Given the description of an element on the screen output the (x, y) to click on. 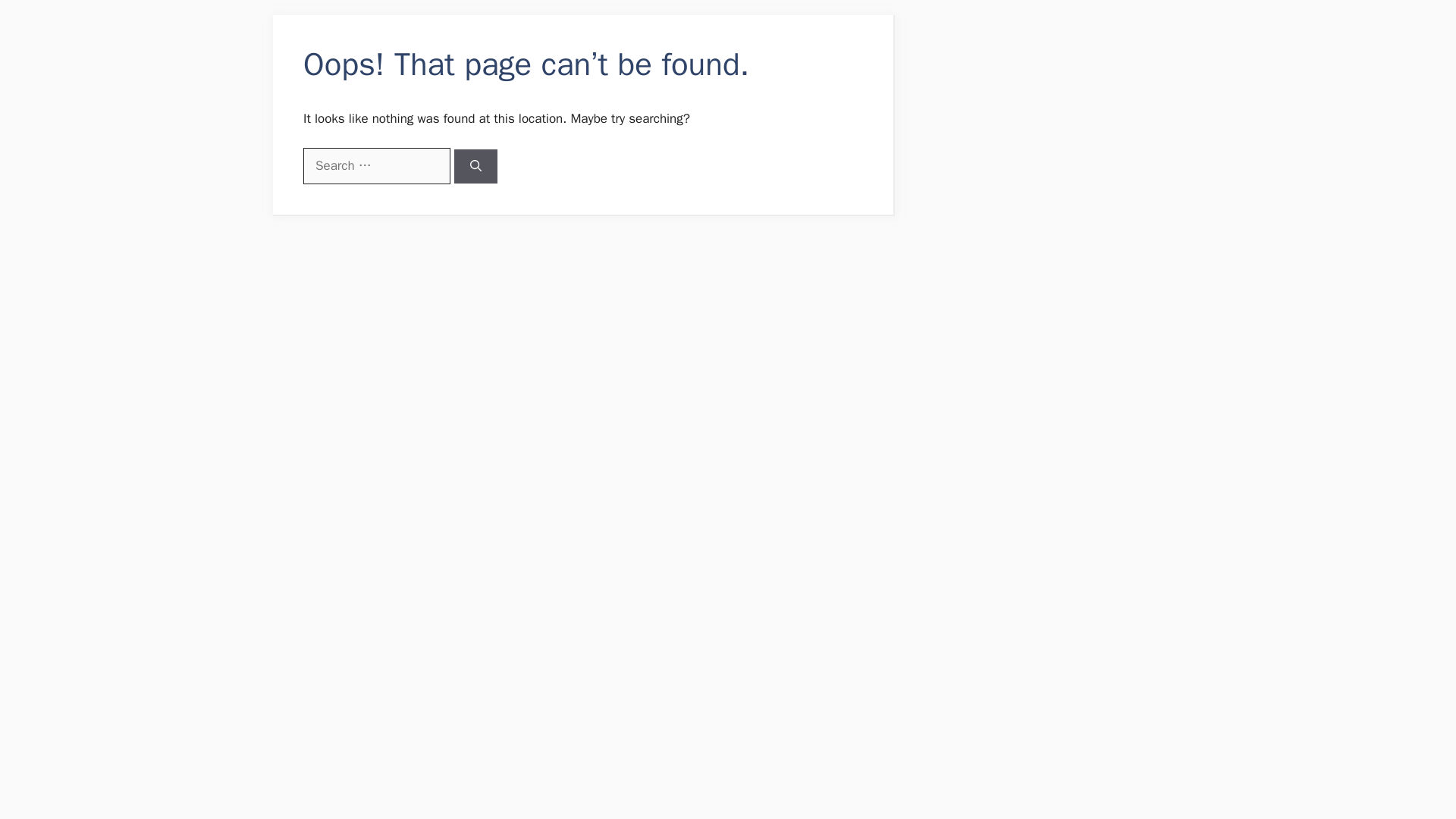
Search for: (375, 166)
